Given the description of an element on the screen output the (x, y) to click on. 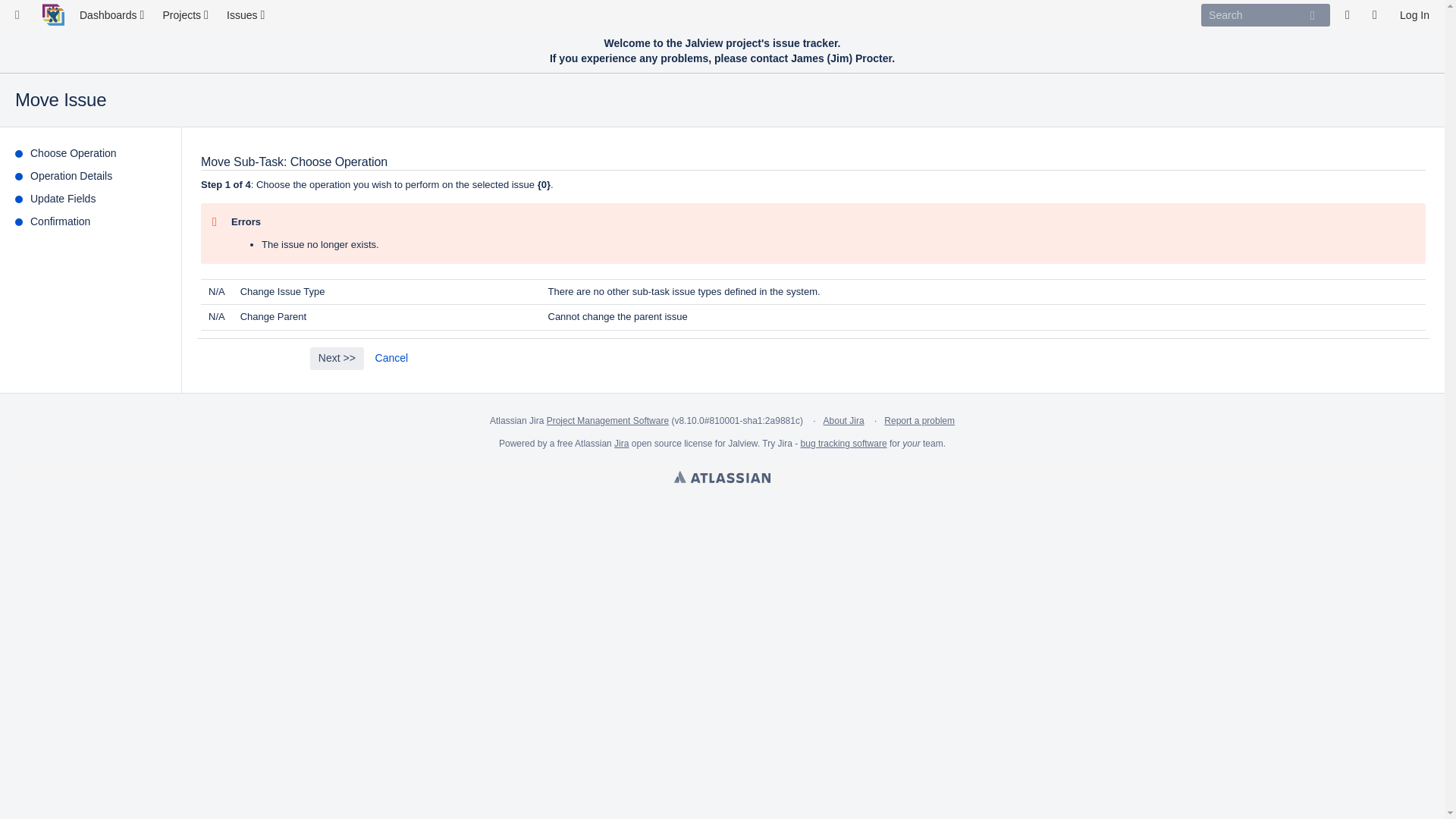
About Jira (844, 420)
Projects (186, 15)
Help (1378, 15)
Give feedback to Atlassian (1351, 15)
Report a problem (919, 420)
Cancel (391, 358)
Jira (621, 443)
Help (1378, 15)
View recent projects and browse a list of projects (186, 15)
Linked Applications (20, 15)
